Given the description of an element on the screen output the (x, y) to click on. 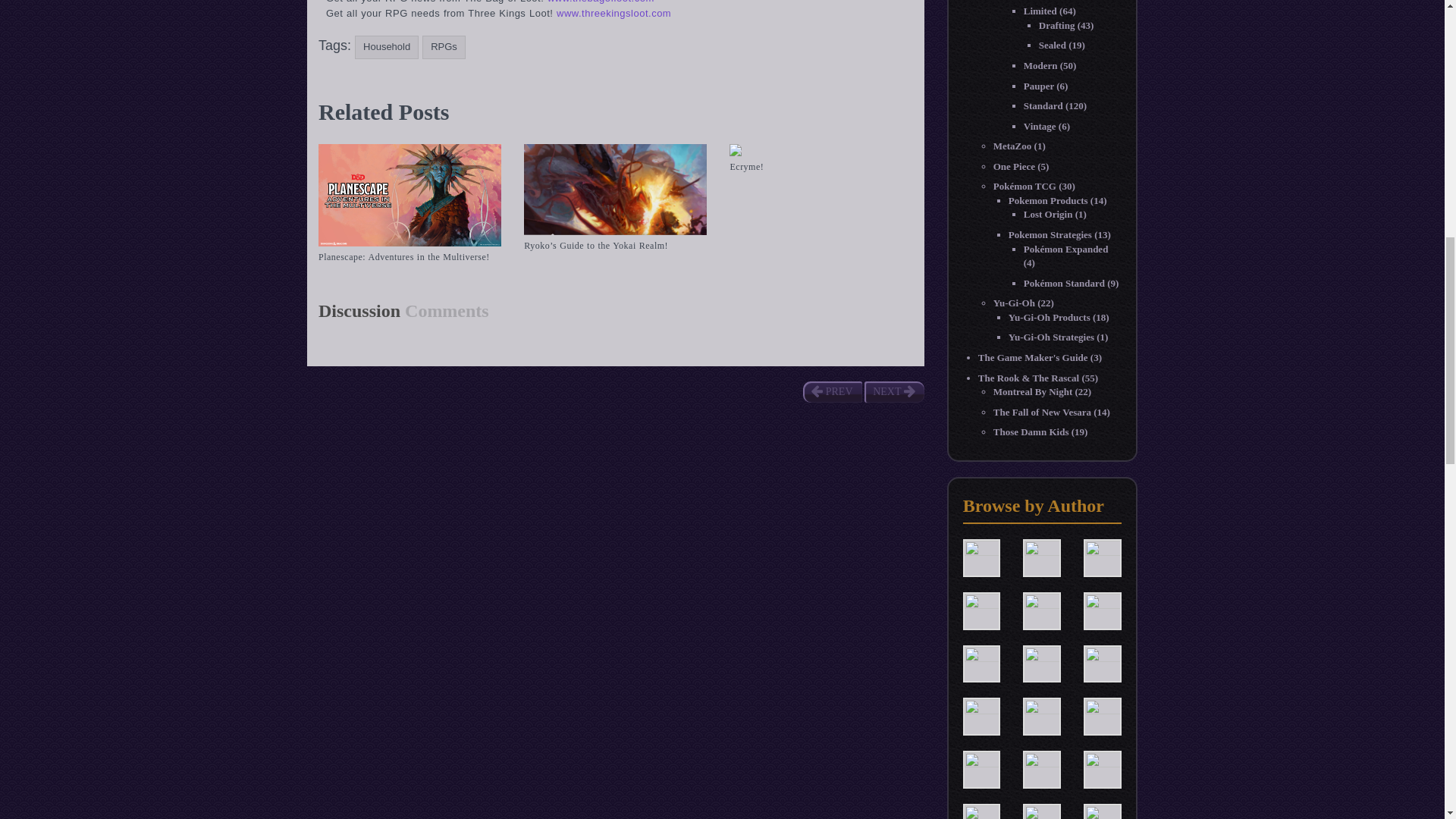
www.threekingsloot.com (613, 12)
Louis-Serge Gagne (981, 767)
Mike Carrozza (1102, 767)
Evan, Chewer of Thoughts (981, 662)
PREV (831, 391)
RPGs (443, 47)
Jonathan (981, 715)
Gerald Knight (1042, 662)
Bruce Gray (1042, 556)
Marc Olivier Plante (1042, 767)
